Given the description of an element on the screen output the (x, y) to click on. 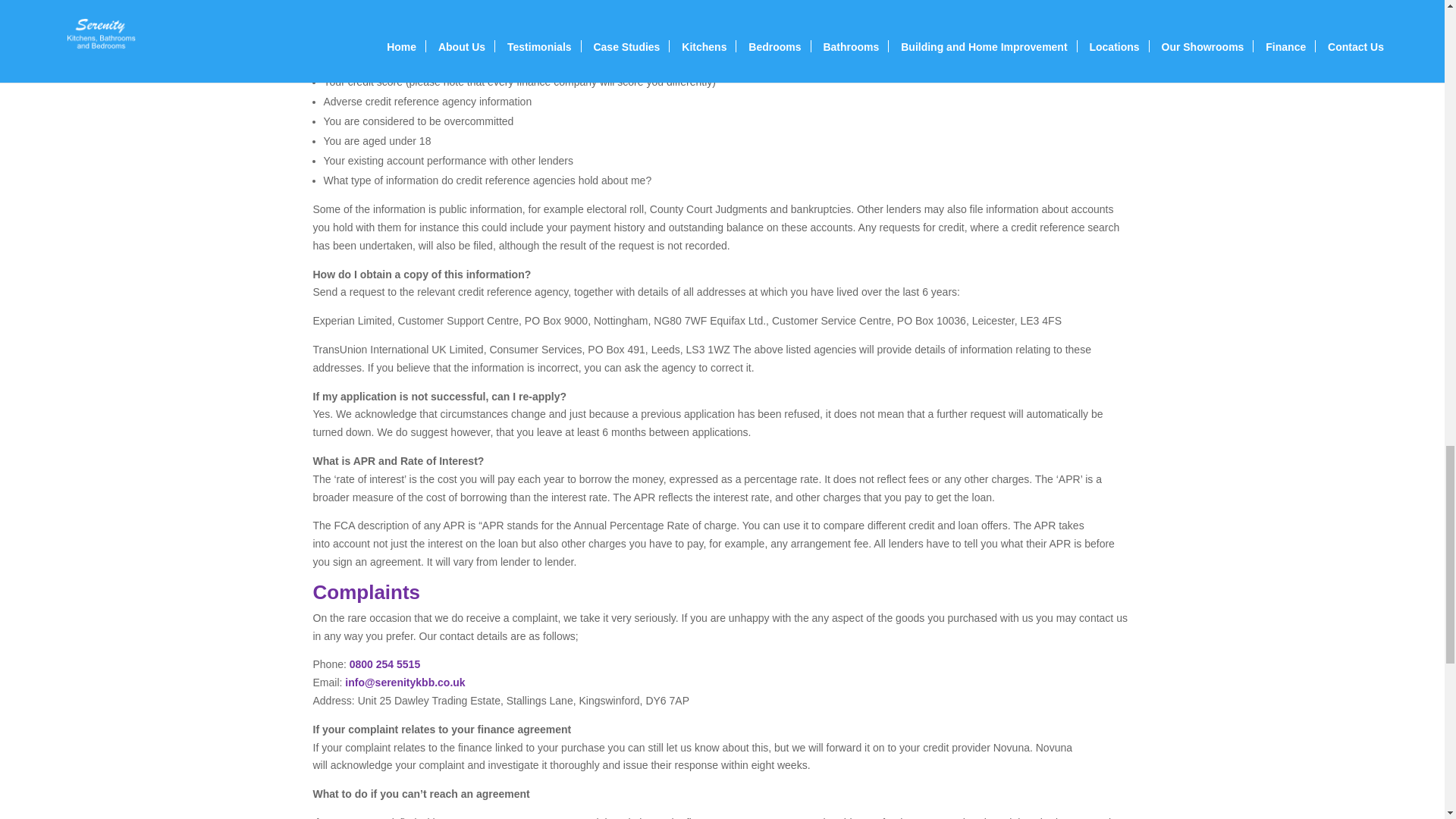
0800 254 5515 (384, 664)
